Given the description of an element on the screen output the (x, y) to click on. 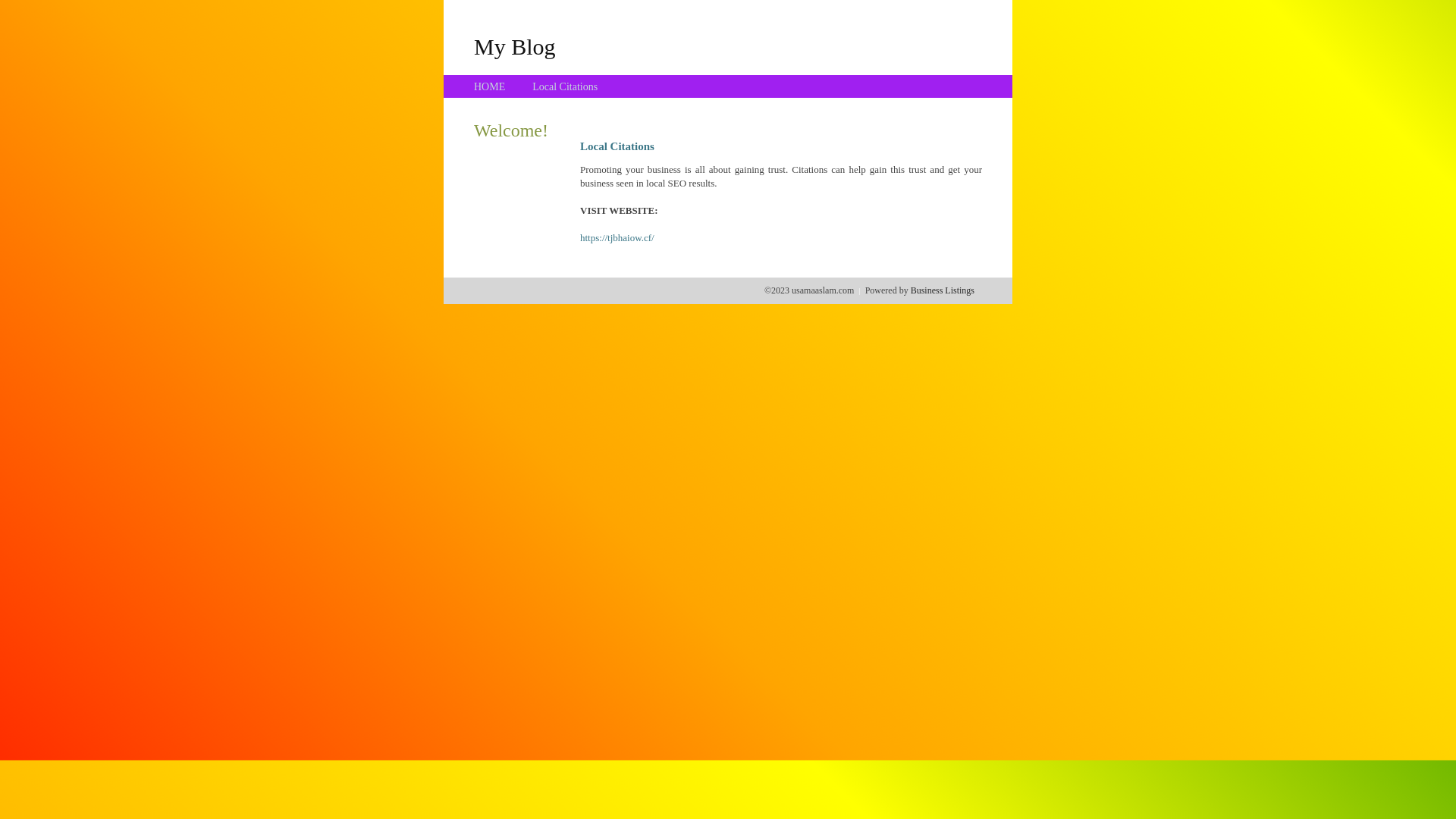
Business Listings Element type: text (942, 290)
Local Citations Element type: text (564, 86)
My Blog Element type: text (514, 46)
HOME Element type: text (489, 86)
https://tjbhaiow.cf/ Element type: text (617, 237)
